Given the description of an element on the screen output the (x, y) to click on. 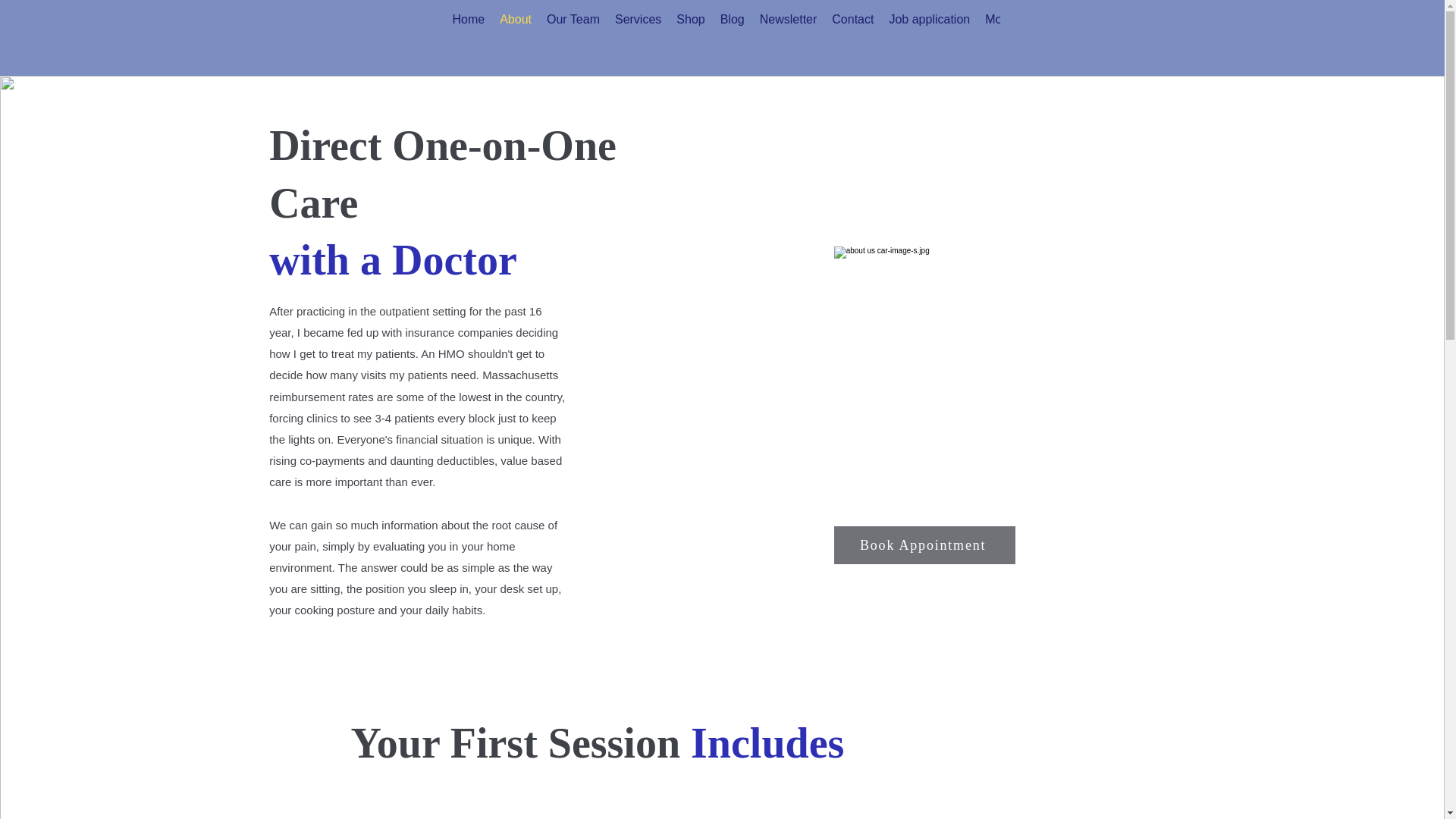
Home (468, 22)
About (515, 22)
Newsletter (788, 22)
Book Appointment (924, 545)
Shop (689, 22)
Job application (928, 22)
Services (637, 22)
Our Team (572, 22)
Contact (852, 22)
Blog (732, 22)
